Given the description of an element on the screen output the (x, y) to click on. 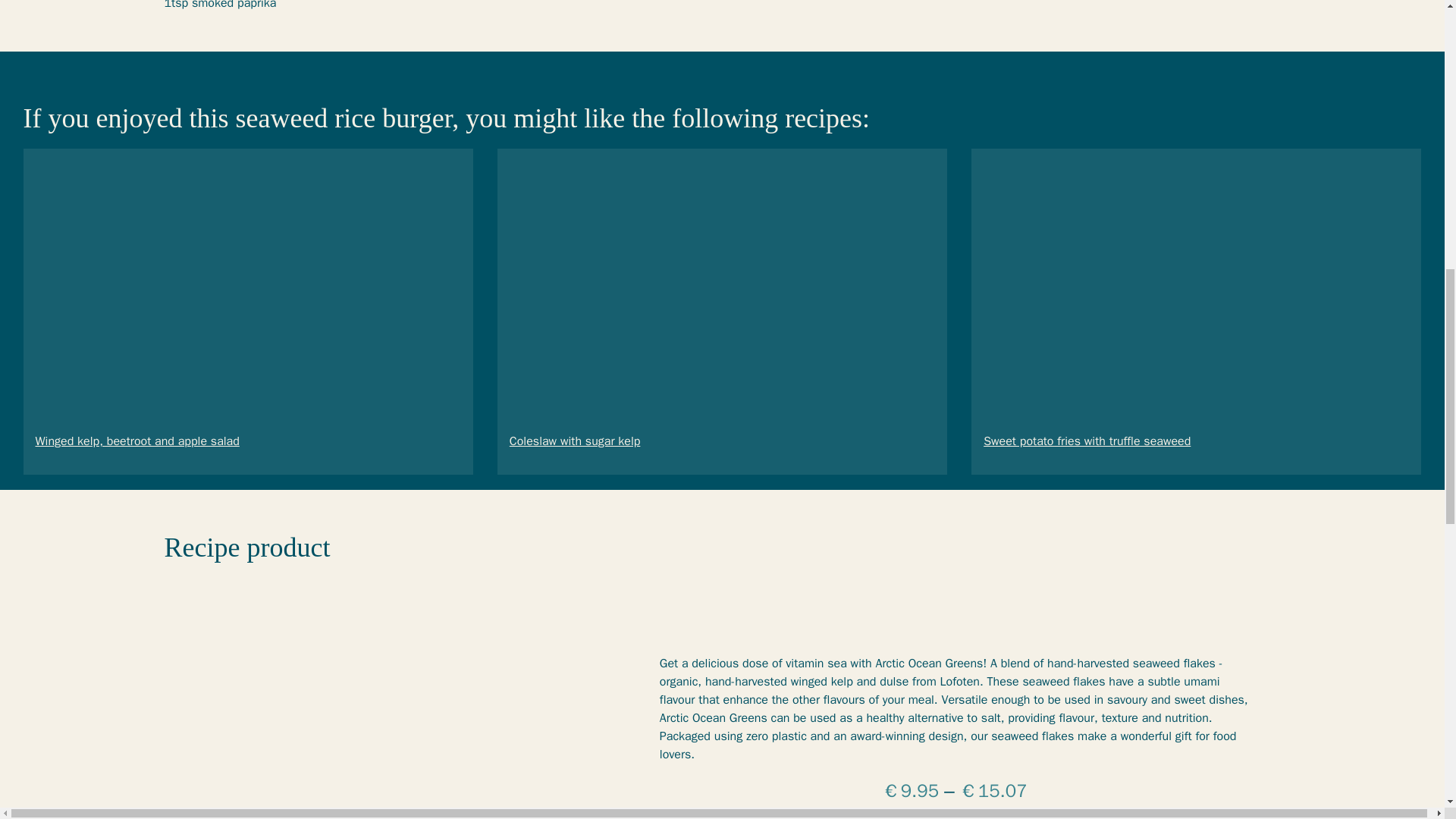
Winged kelp, beetroot and apple salad (136, 441)
